Given the description of an element on the screen output the (x, y) to click on. 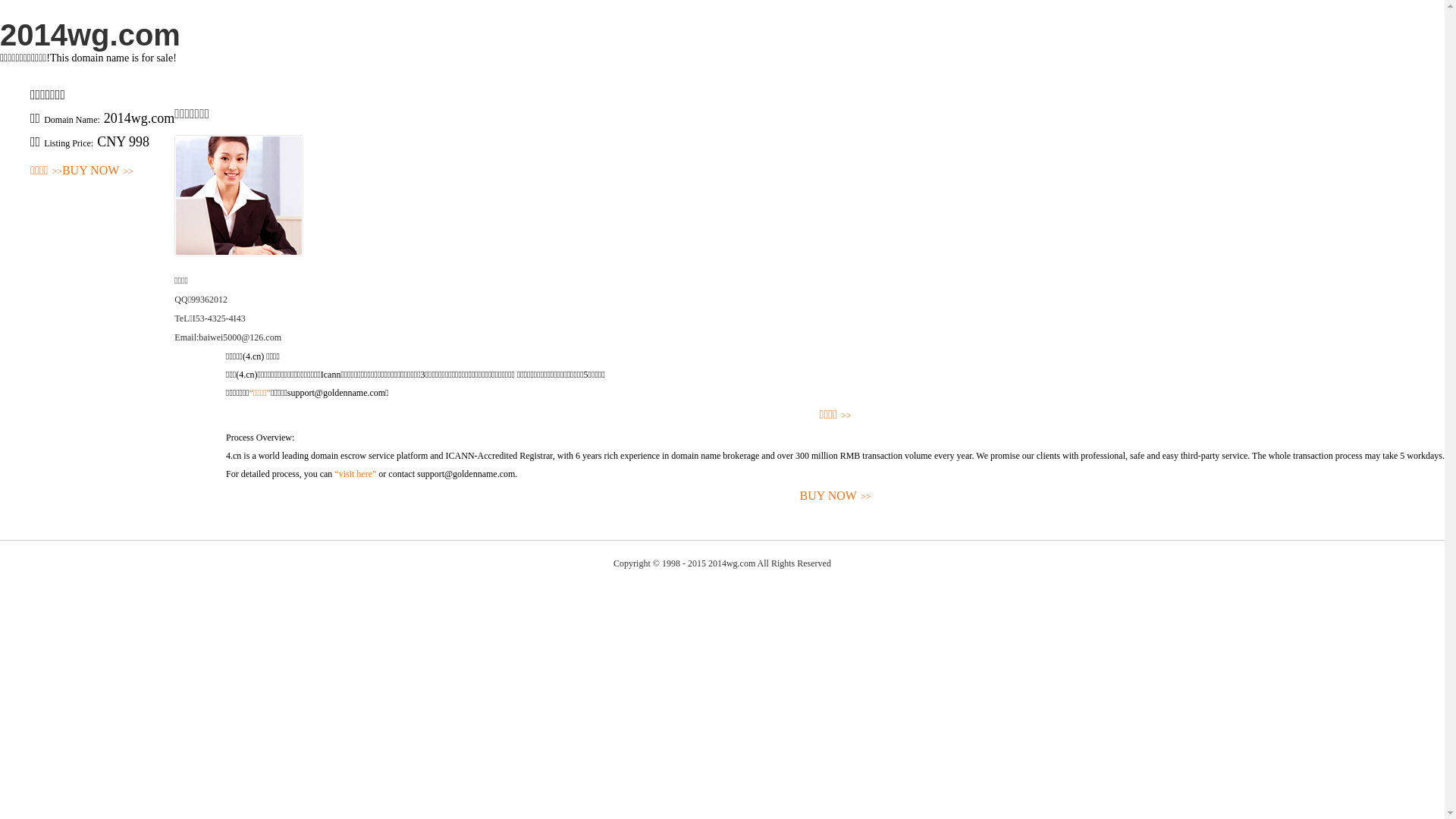
BUY NOW>> Element type: text (97, 170)
BUY NOW>> Element type: text (834, 496)
